Given the description of an element on the screen output the (x, y) to click on. 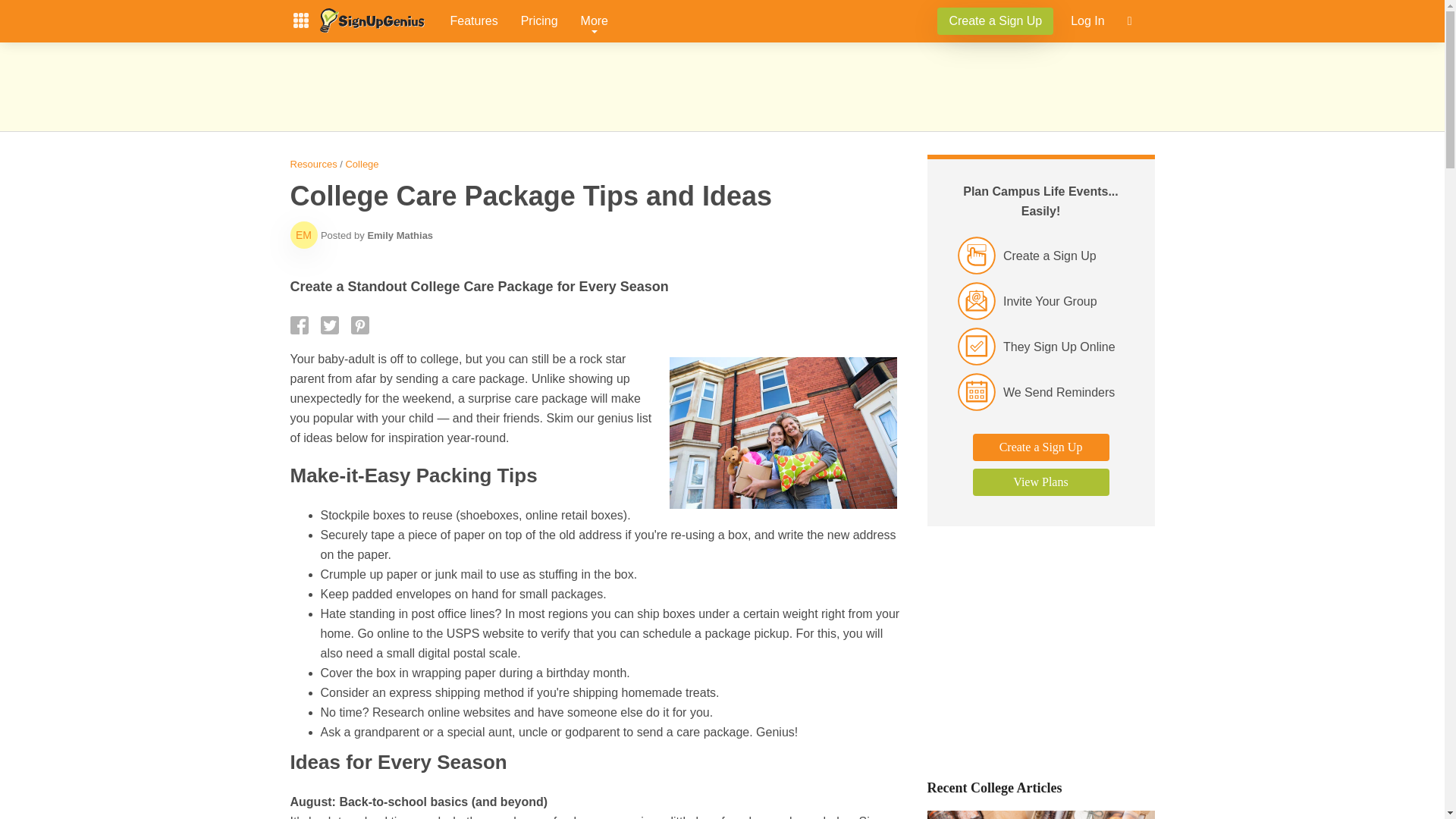
More (594, 21)
Features (473, 21)
Create a Sign Up (994, 20)
Create a Sign Up (994, 21)
Log In (1087, 21)
Pricing (539, 21)
